Given the description of an element on the screen output the (x, y) to click on. 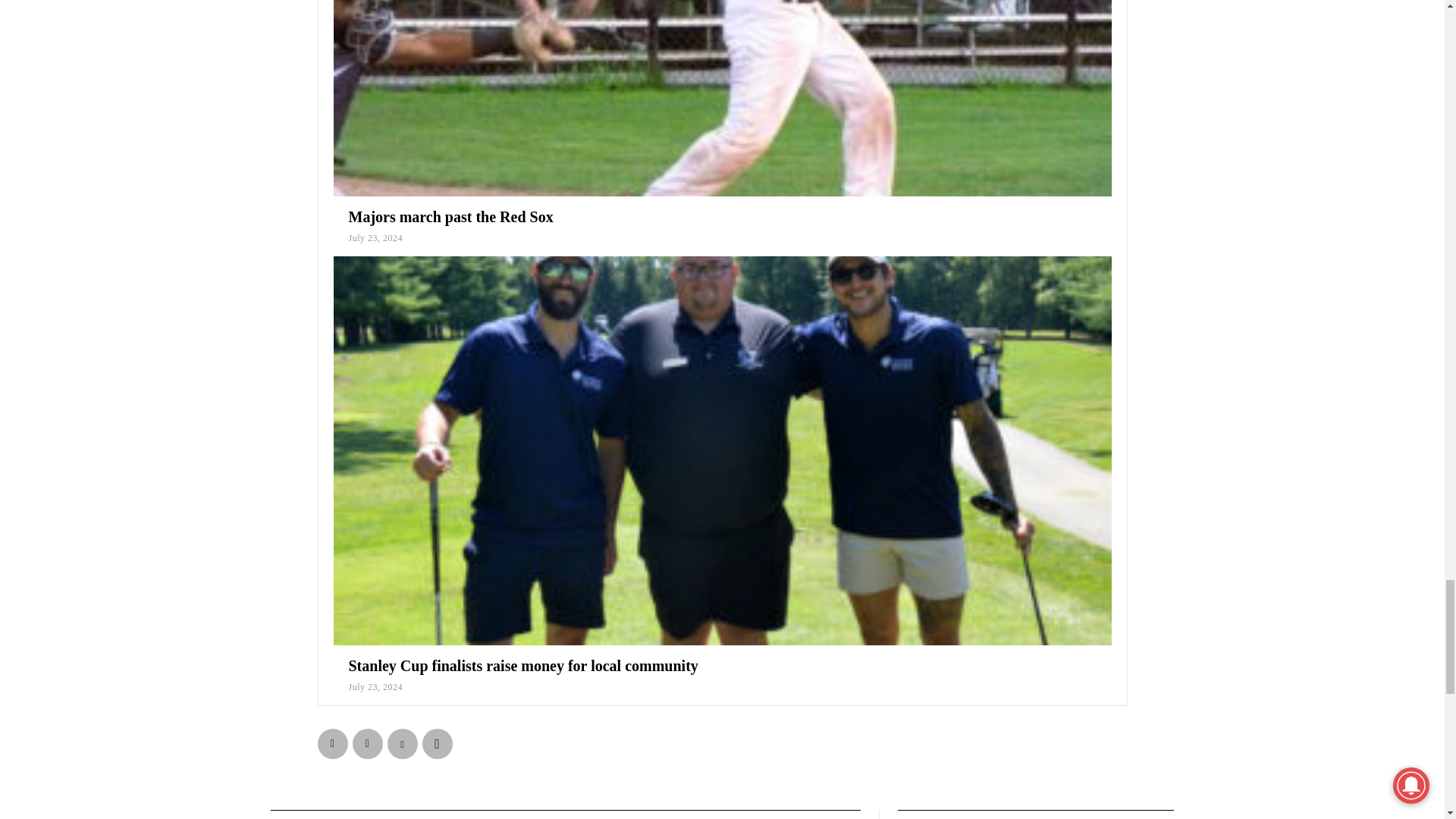
Majors march past the Red Sox (451, 216)
Stanley Cup finalists raise money for local community (523, 665)
